Given the description of an element on the screen output the (x, y) to click on. 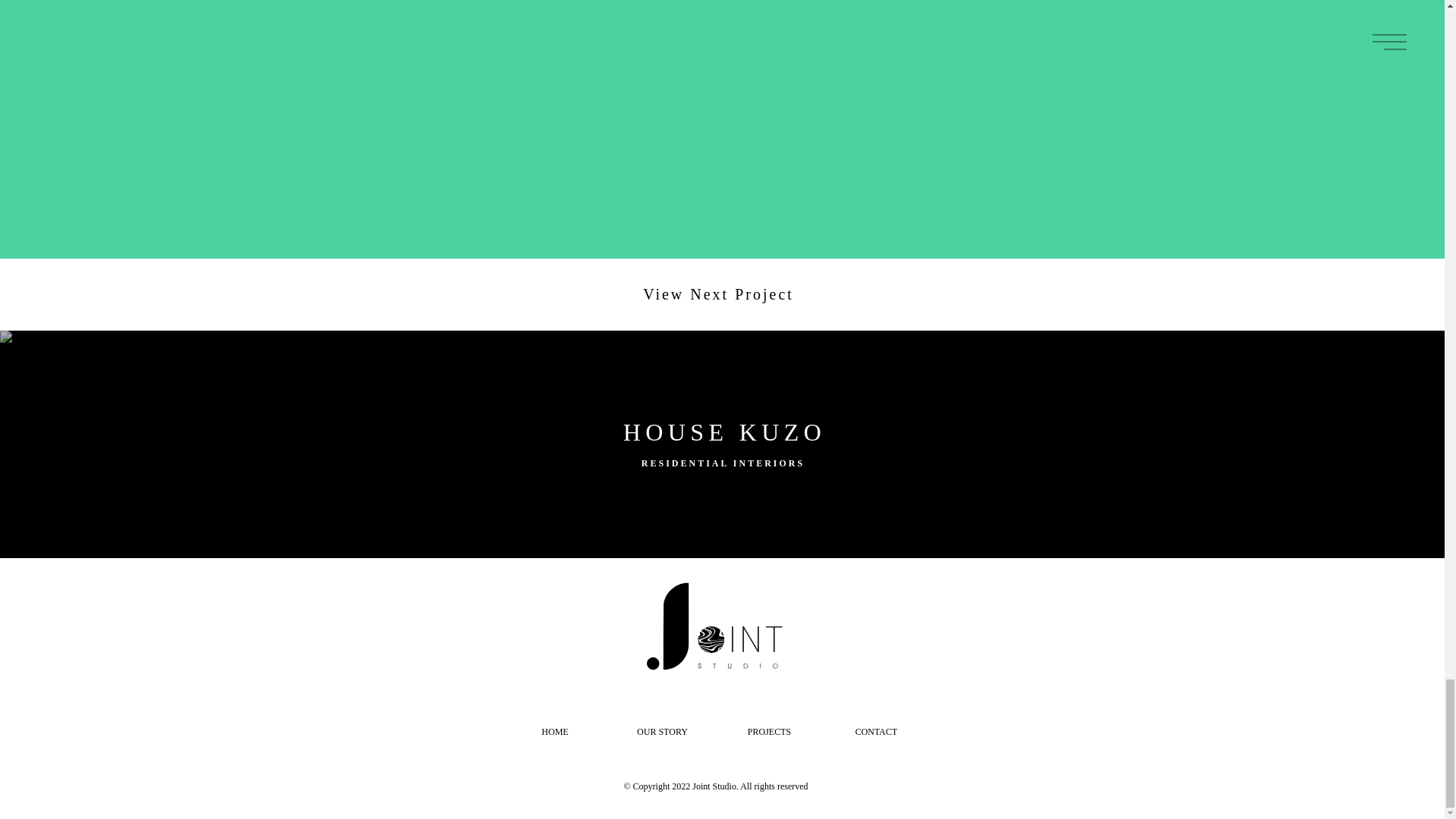
PROJECTS (769, 731)
HOME (555, 731)
OUR STORY (661, 731)
CONTACT (875, 731)
